Given the description of an element on the screen output the (x, y) to click on. 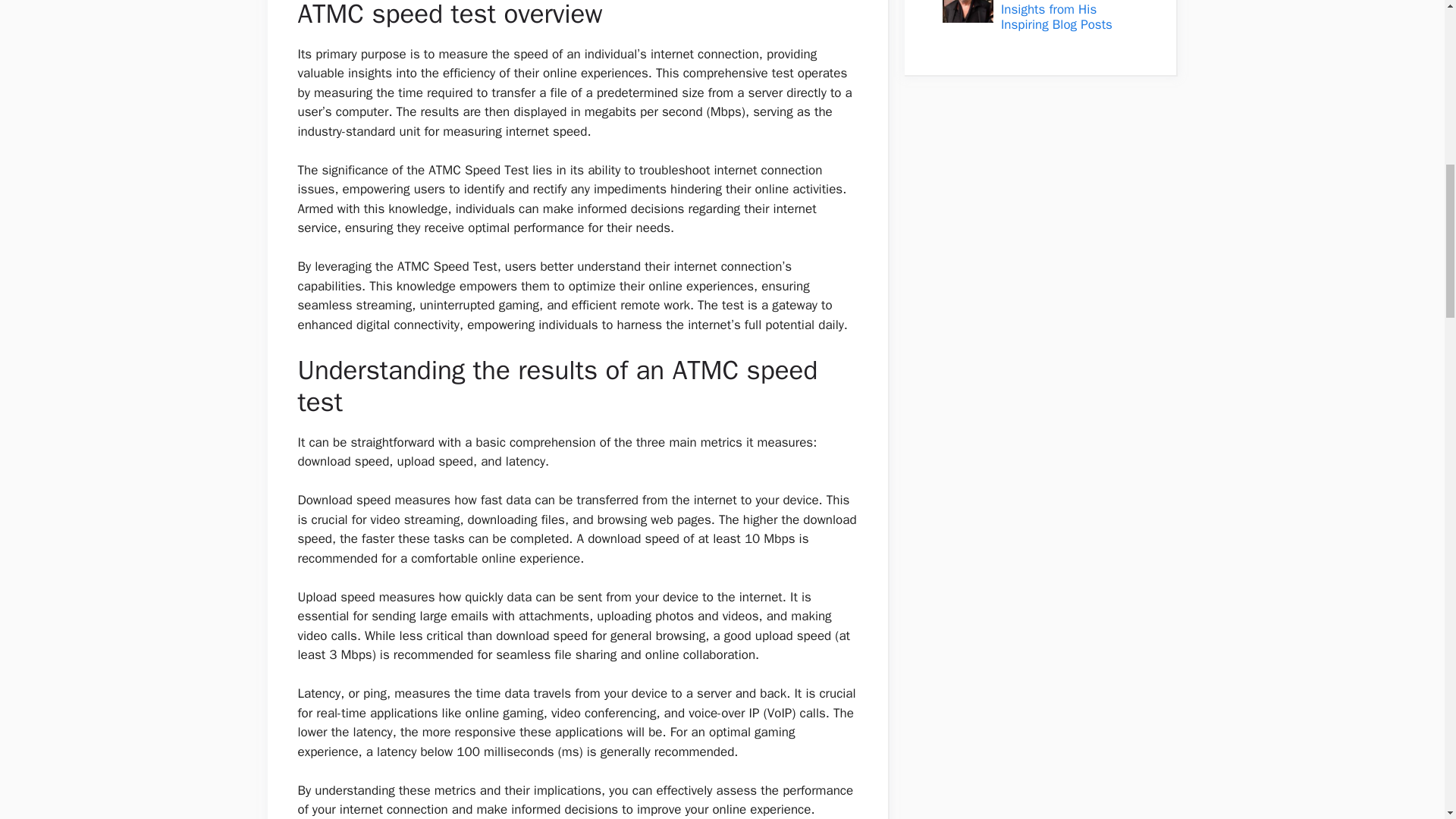
Scroll back to top (1406, 720)
